Given the description of an element on the screen output the (x, y) to click on. 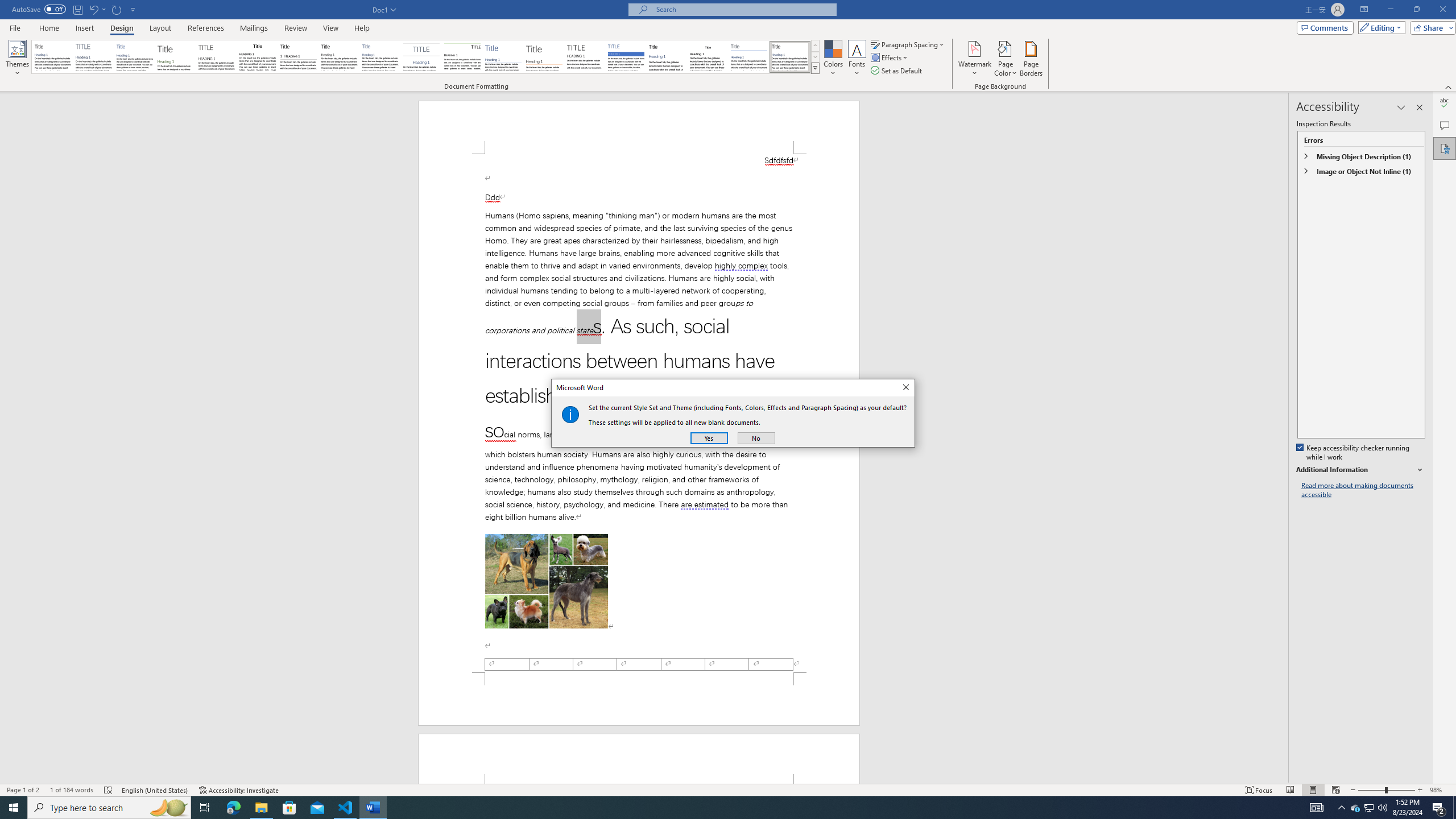
Read more about making documents accessible (1363, 489)
Repeat Accessibility Checker (117, 9)
Style Set (814, 67)
Casual (379, 56)
Additional Information (1360, 469)
Page Color (1005, 58)
